Given the description of an element on the screen output the (x, y) to click on. 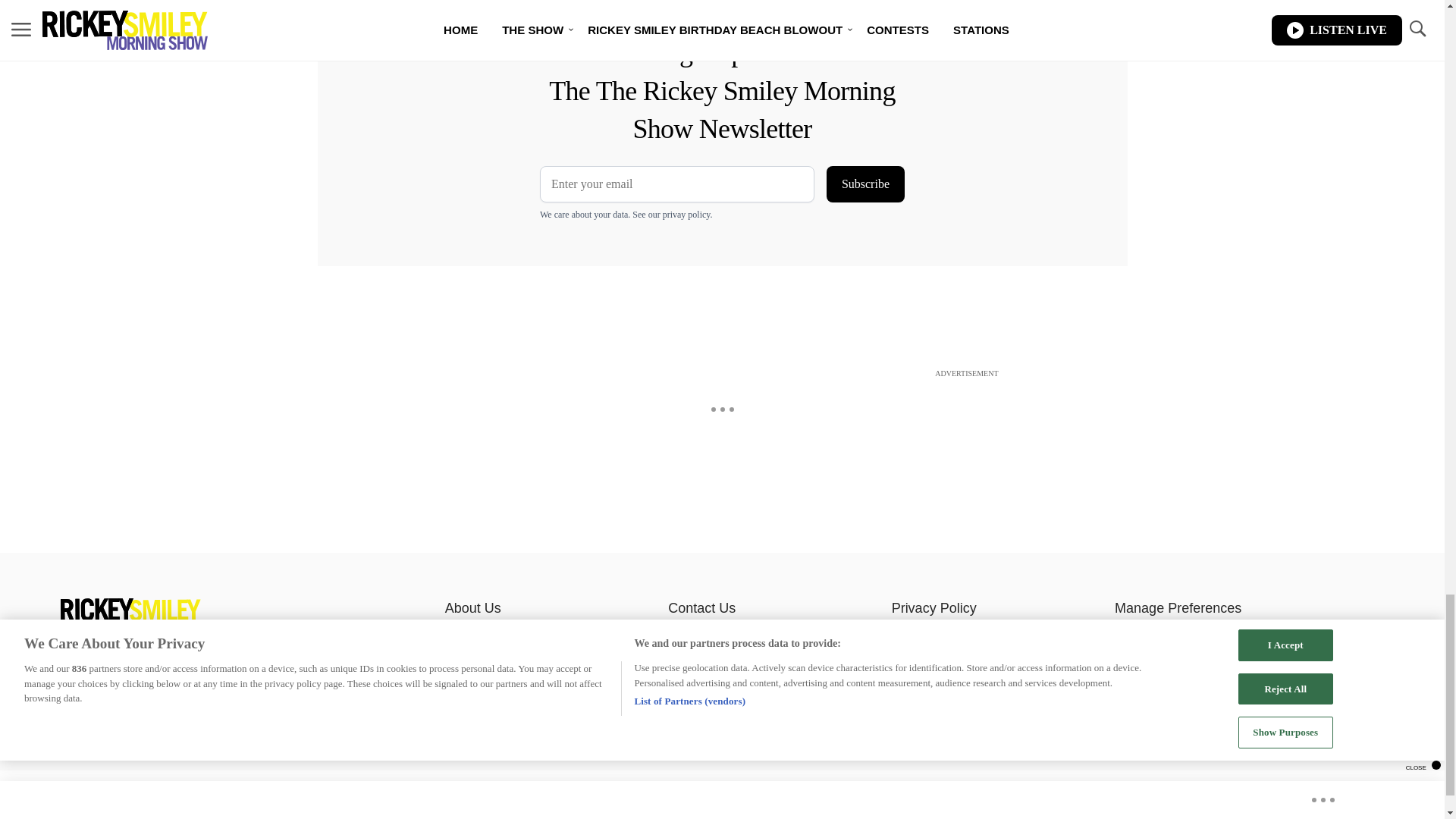
3rd party ad content (721, 415)
